Given the description of an element on the screen output the (x, y) to click on. 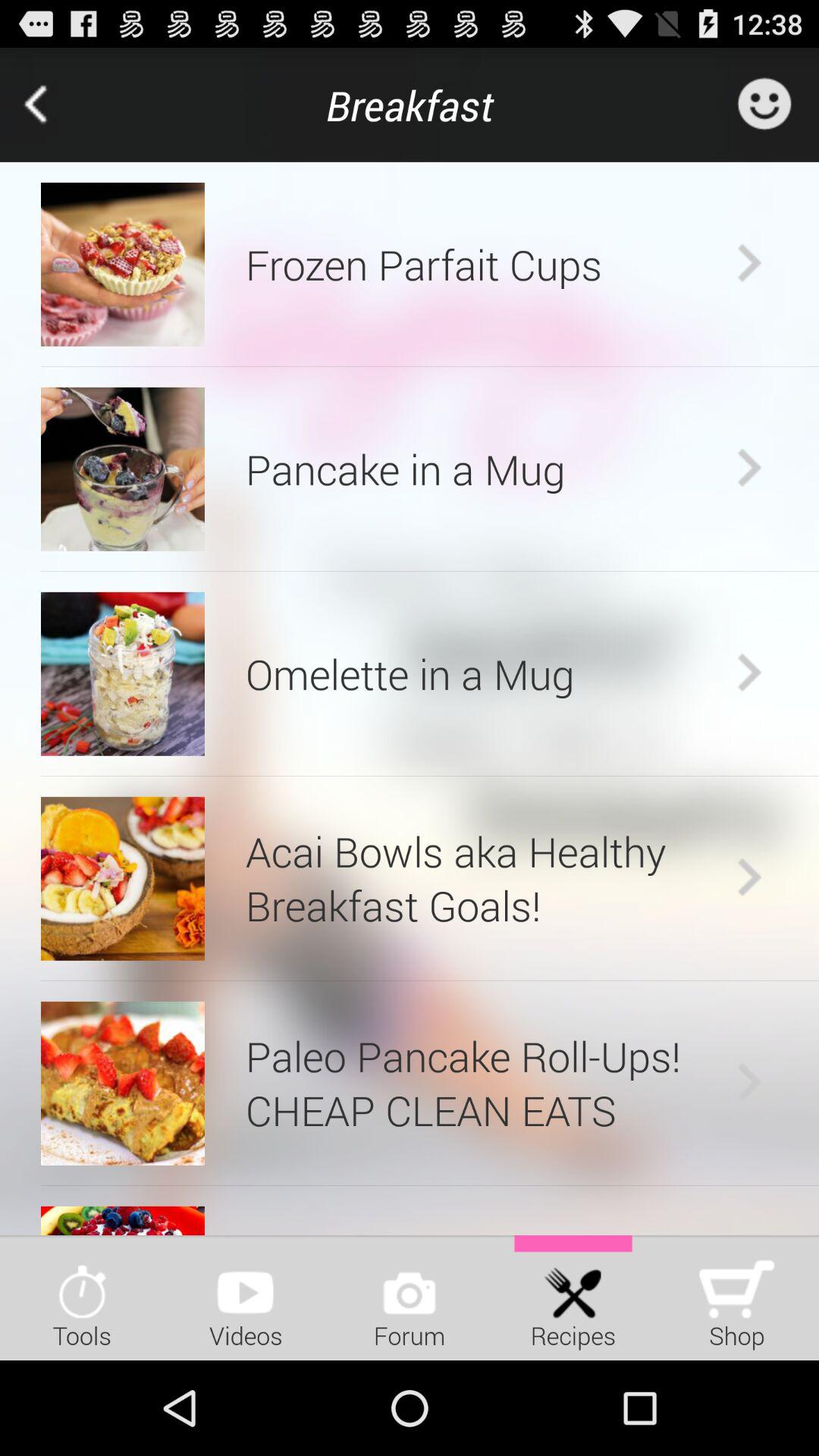
tap the app next to paleo pancake roll item (122, 1083)
